Given the description of an element on the screen output the (x, y) to click on. 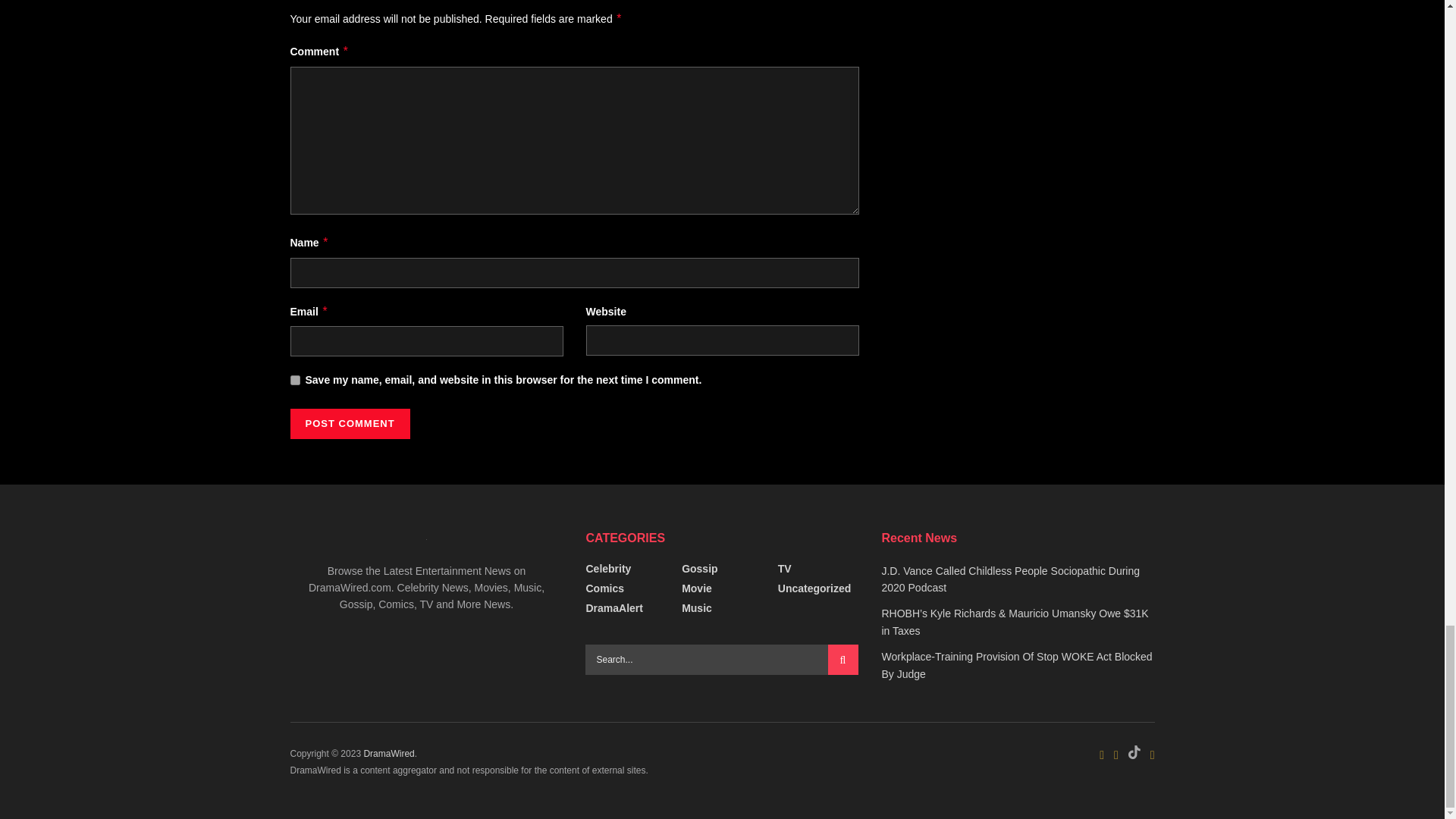
yes (294, 379)
Post Comment (349, 423)
